Given the description of an element on the screen output the (x, y) to click on. 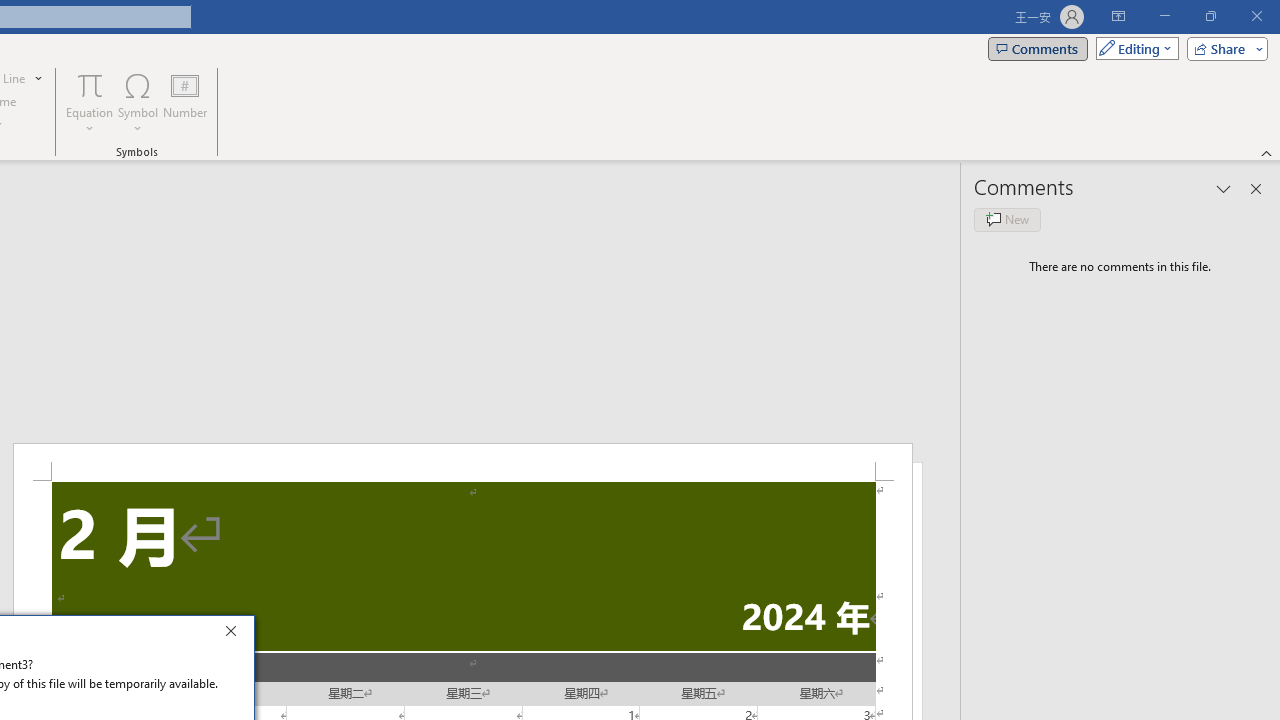
Close (236, 633)
Close pane (1256, 188)
Task Pane Options (1224, 188)
Comments (1038, 48)
Restore Down (1210, 16)
More Options (90, 121)
Ribbon Display Options (1118, 16)
Number... (185, 102)
Equation (90, 102)
Mode (1133, 47)
Equation (90, 84)
Collapse the Ribbon (1267, 152)
Share (1223, 48)
